Given the description of an element on the screen output the (x, y) to click on. 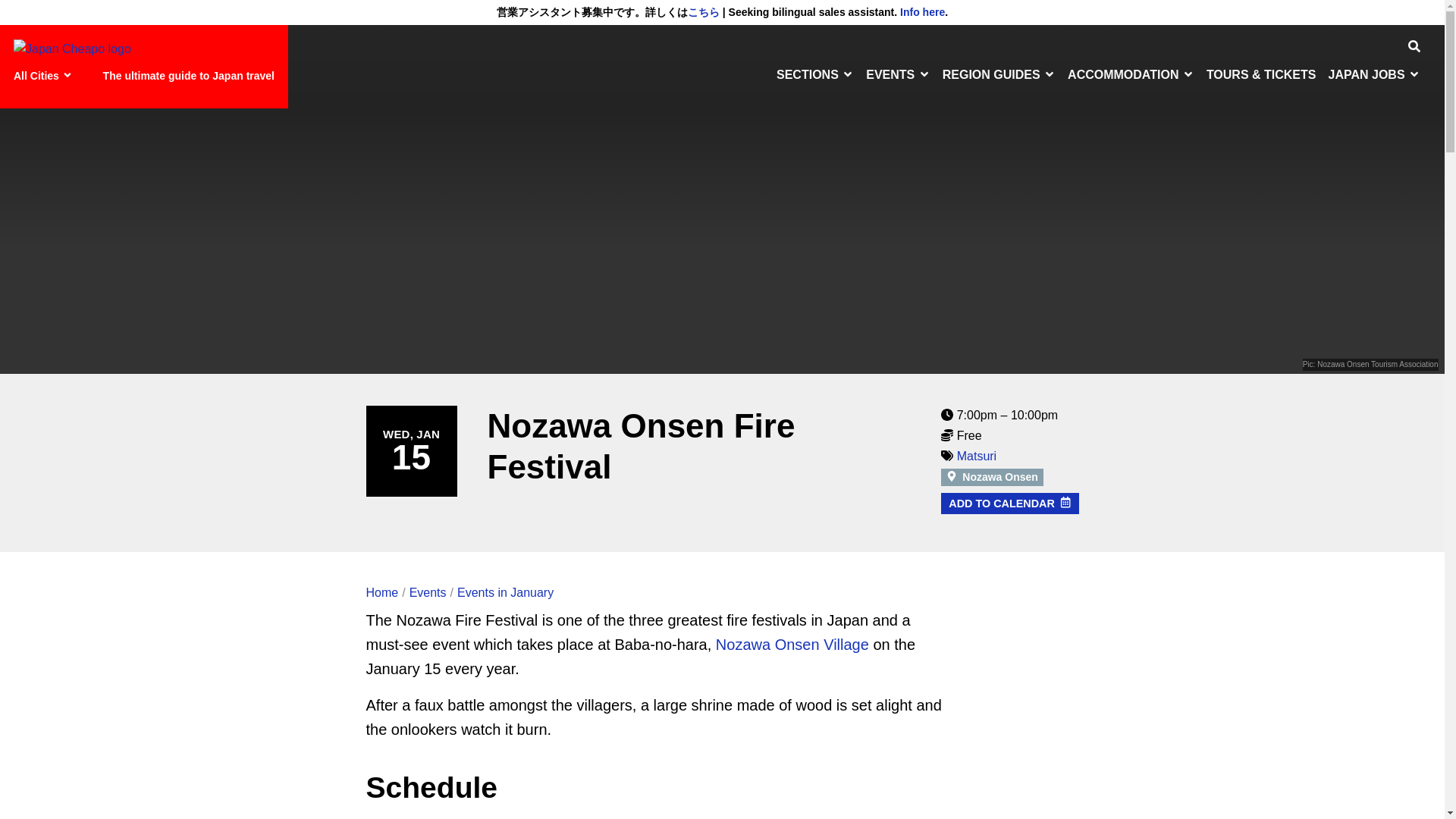
Info here (921, 11)
All Cities (45, 75)
Events (898, 74)
Sections (815, 74)
Region Guides (998, 74)
Japan Cheapo Homepage (72, 47)
REGION GUIDES (998, 74)
Japan Cheapo (72, 49)
SECTIONS (815, 74)
EVENTS (898, 74)
